Given the description of an element on the screen output the (x, y) to click on. 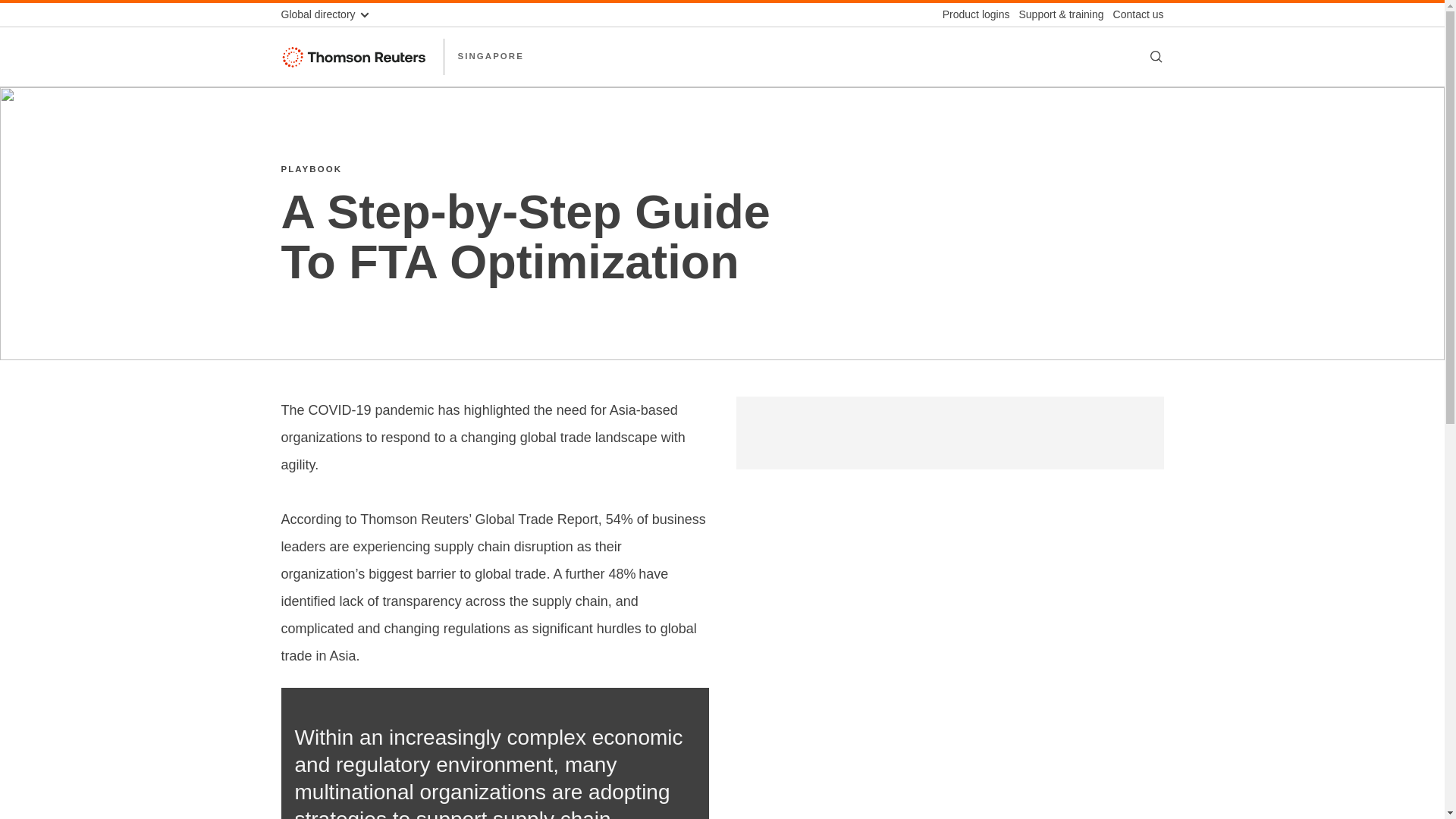
Product logins (971, 14)
Thomson Reuters (355, 56)
Contact us (1133, 14)
Global directory (331, 14)
SINGAPORE (489, 56)
